Given the description of an element on the screen output the (x, y) to click on. 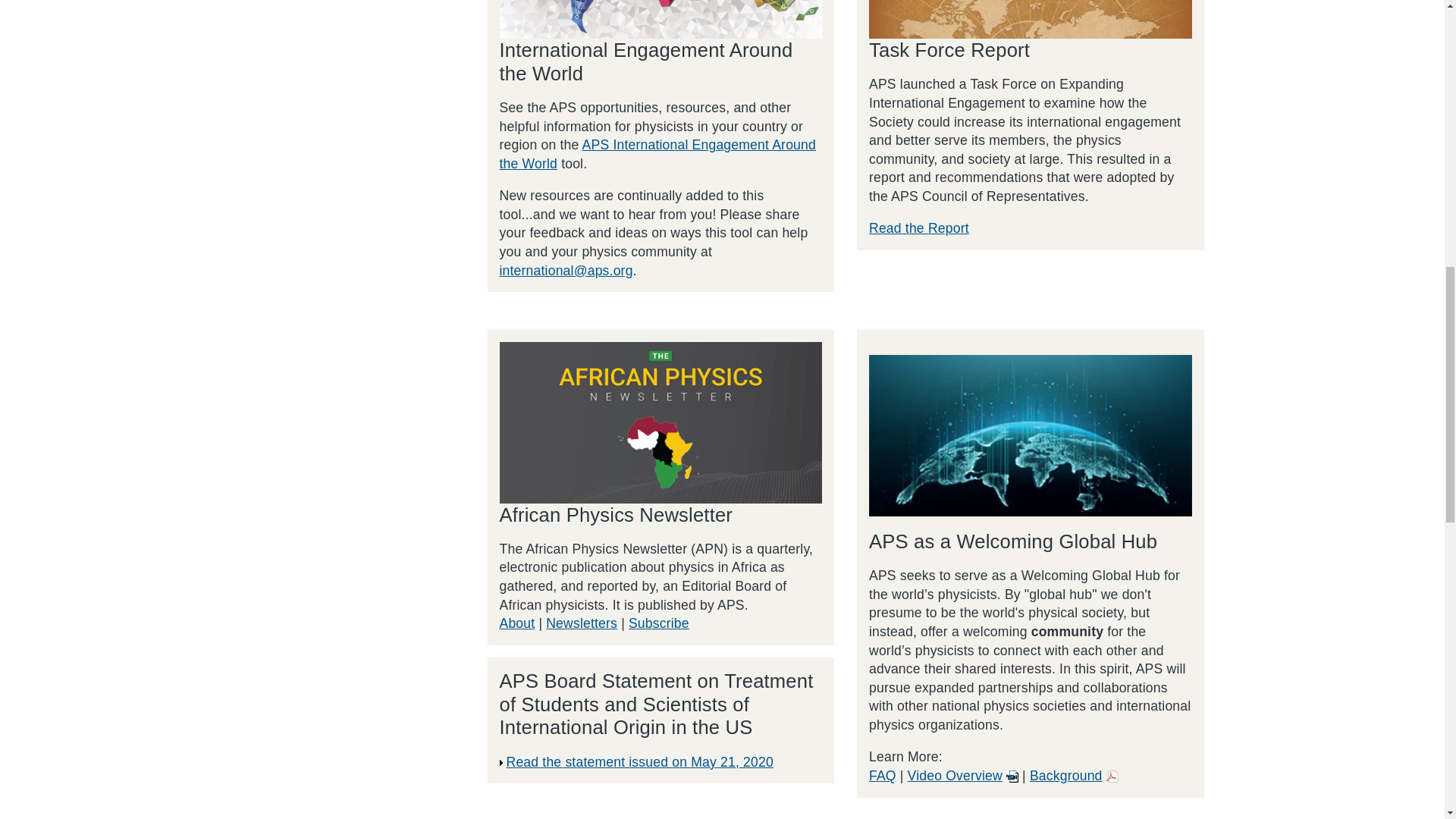
video3.gif (1011, 776)
continents connected image (660, 19)
Task Force (1030, 19)
bullet-arrow.gif (502, 762)
global section graphic (1030, 435)
African Physics Newsletter social (660, 422)
